Given the description of an element on the screen output the (x, y) to click on. 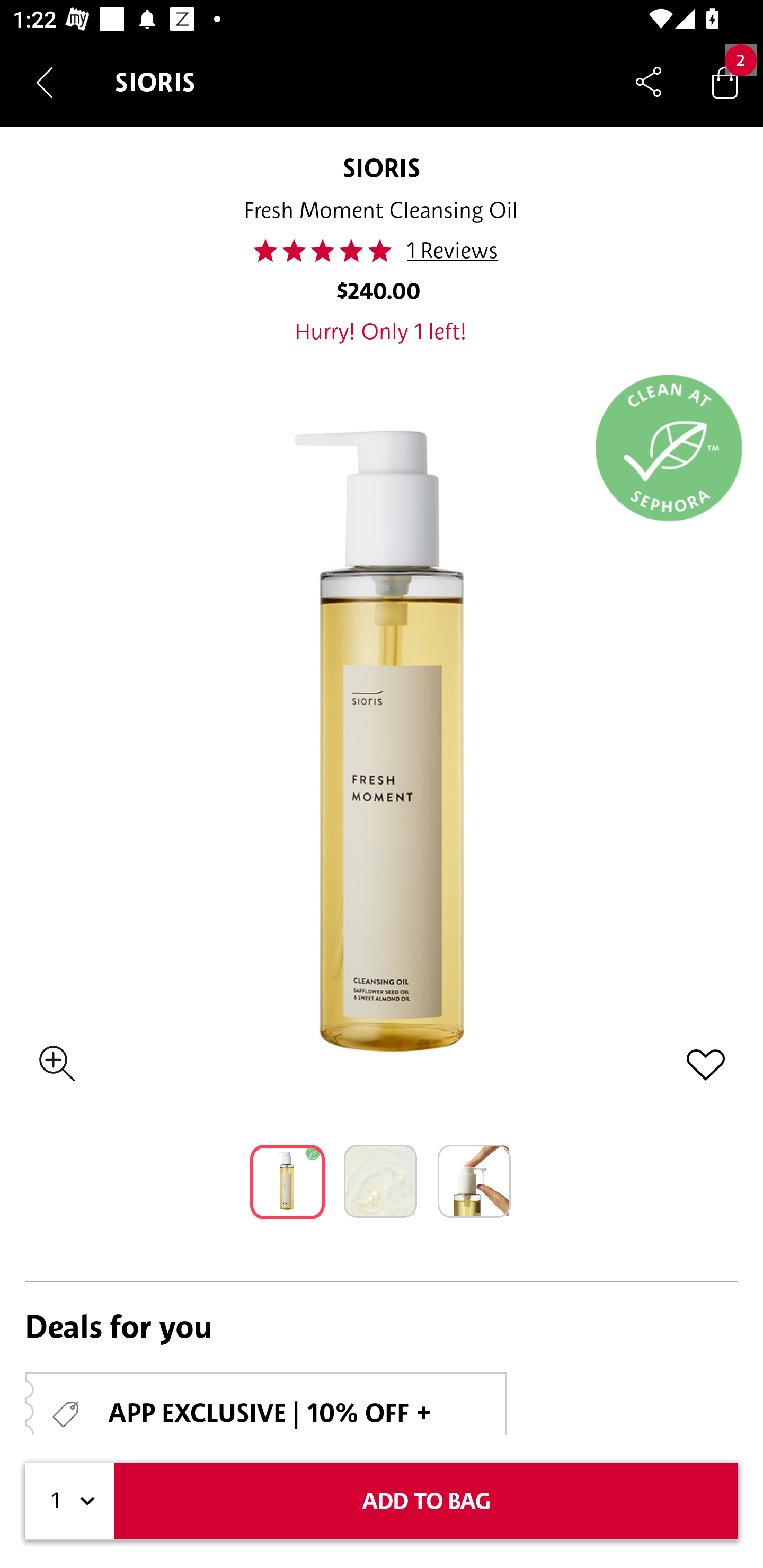
Navigate up (44, 82)
Share (648, 81)
Bag (724, 81)
SIORIS (381, 167)
50.0 1 Reviews (381, 250)
1 (69, 1500)
ADD TO BAG (425, 1500)
